Given the description of an element on the screen output the (x, y) to click on. 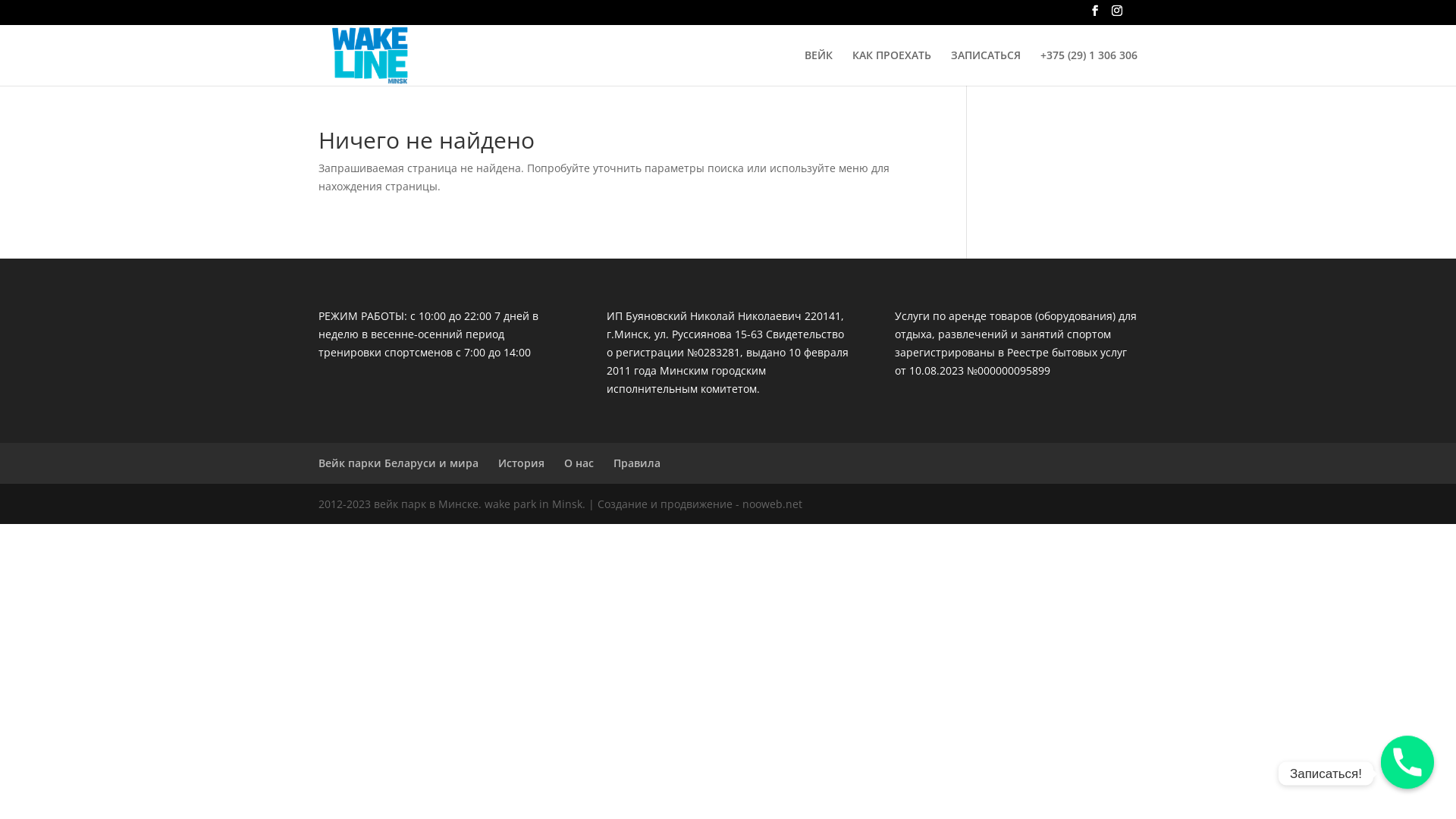
+375 (29) 1 306 306 Element type: text (1088, 67)
